Given the description of an element on the screen output the (x, y) to click on. 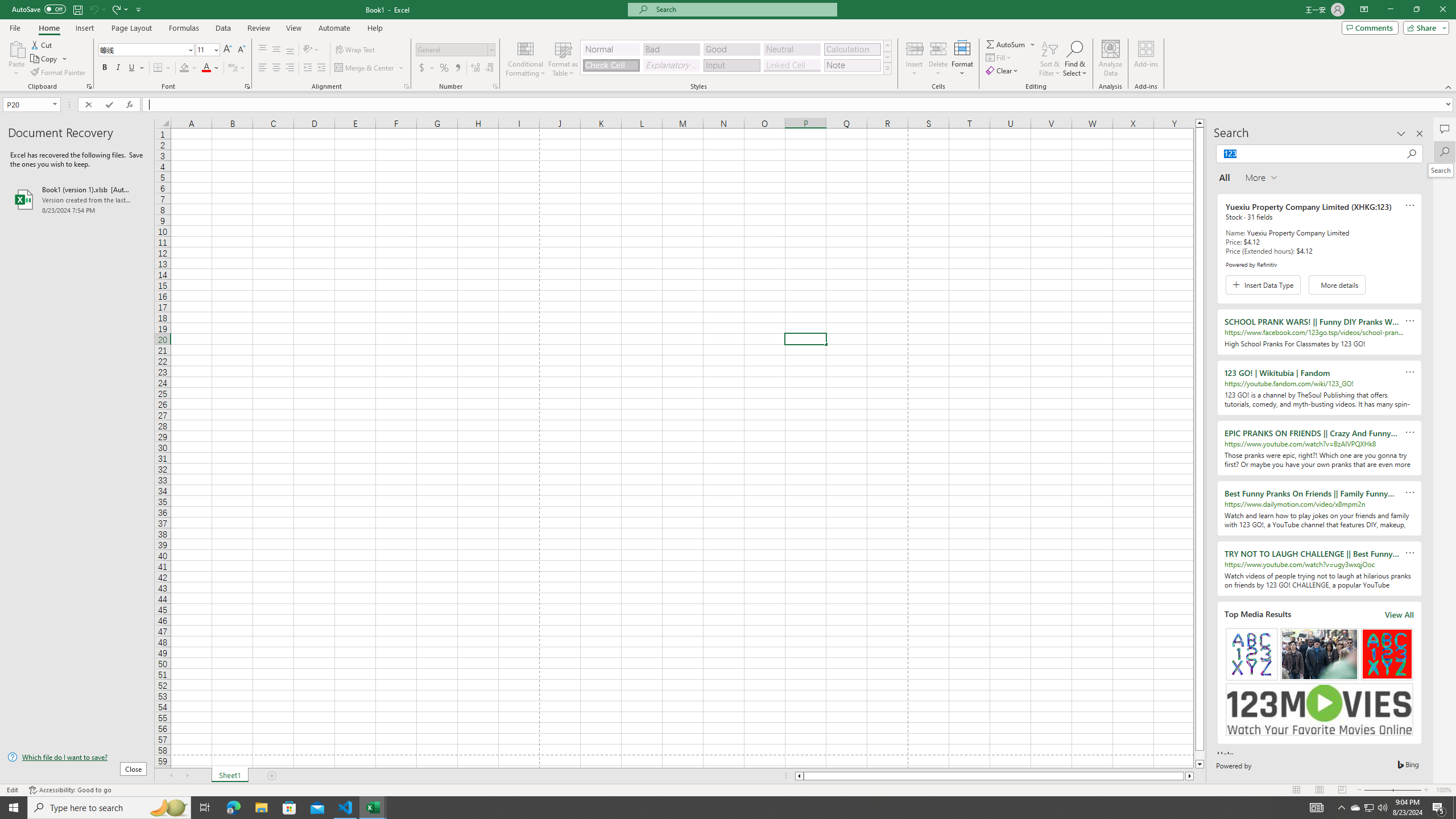
Copy (49, 58)
Wrap Text (355, 49)
Delete (938, 58)
Percent Style (443, 67)
Bad (671, 49)
Find & Select (1075, 58)
Number Format (451, 49)
Copy (45, 58)
Bold (104, 67)
Increase Font Size (227, 49)
Increase Indent (320, 67)
